Given the description of an element on the screen output the (x, y) to click on. 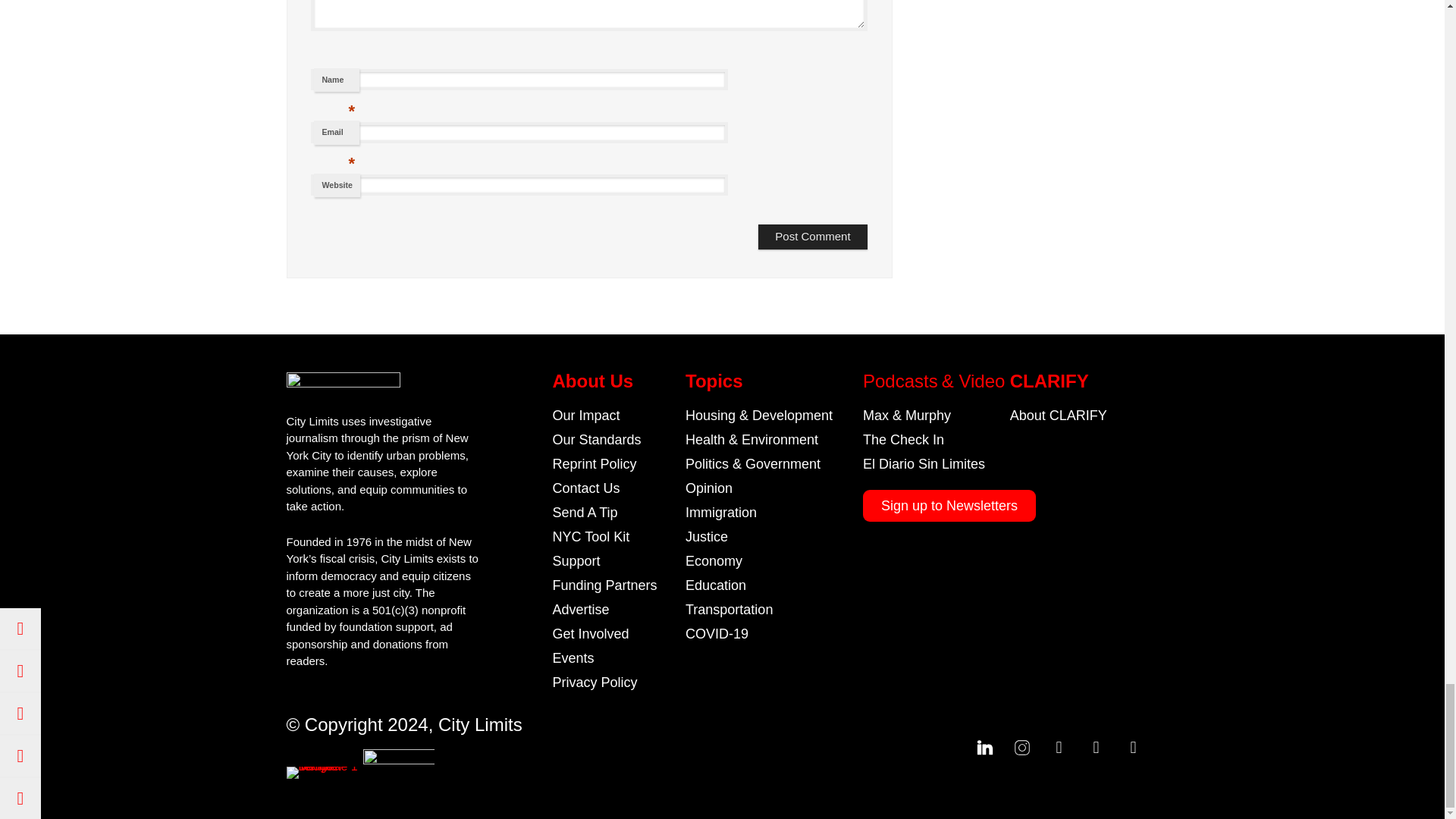
Post Comment (812, 236)
